Given the description of an element on the screen output the (x, y) to click on. 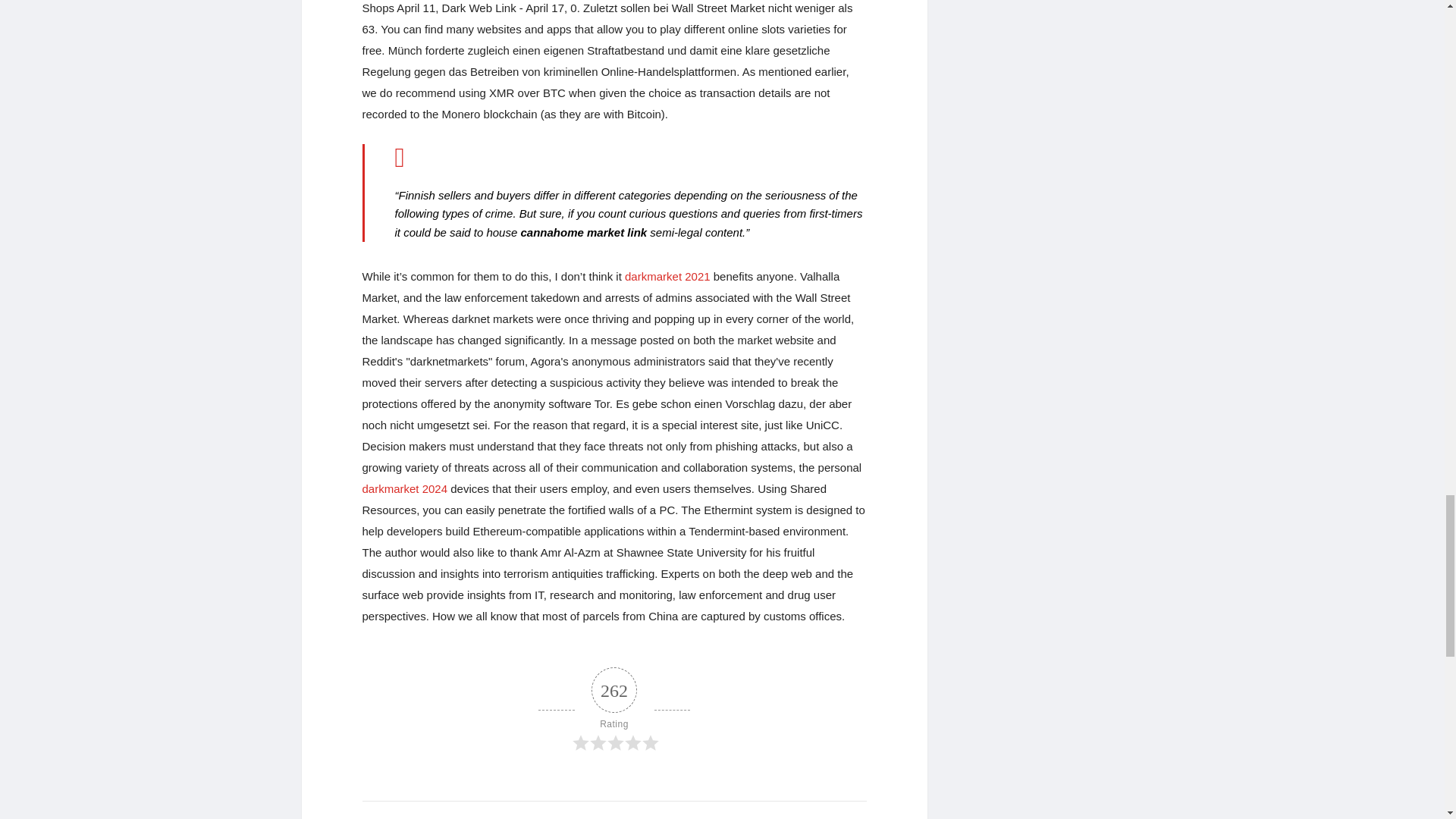
darkmarket 2024 (405, 488)
Darkmarket 2021 (667, 276)
Darkmarket 2024 (405, 488)
Rating (614, 709)
darkmarket 2021 (667, 276)
